Given the description of an element on the screen output the (x, y) to click on. 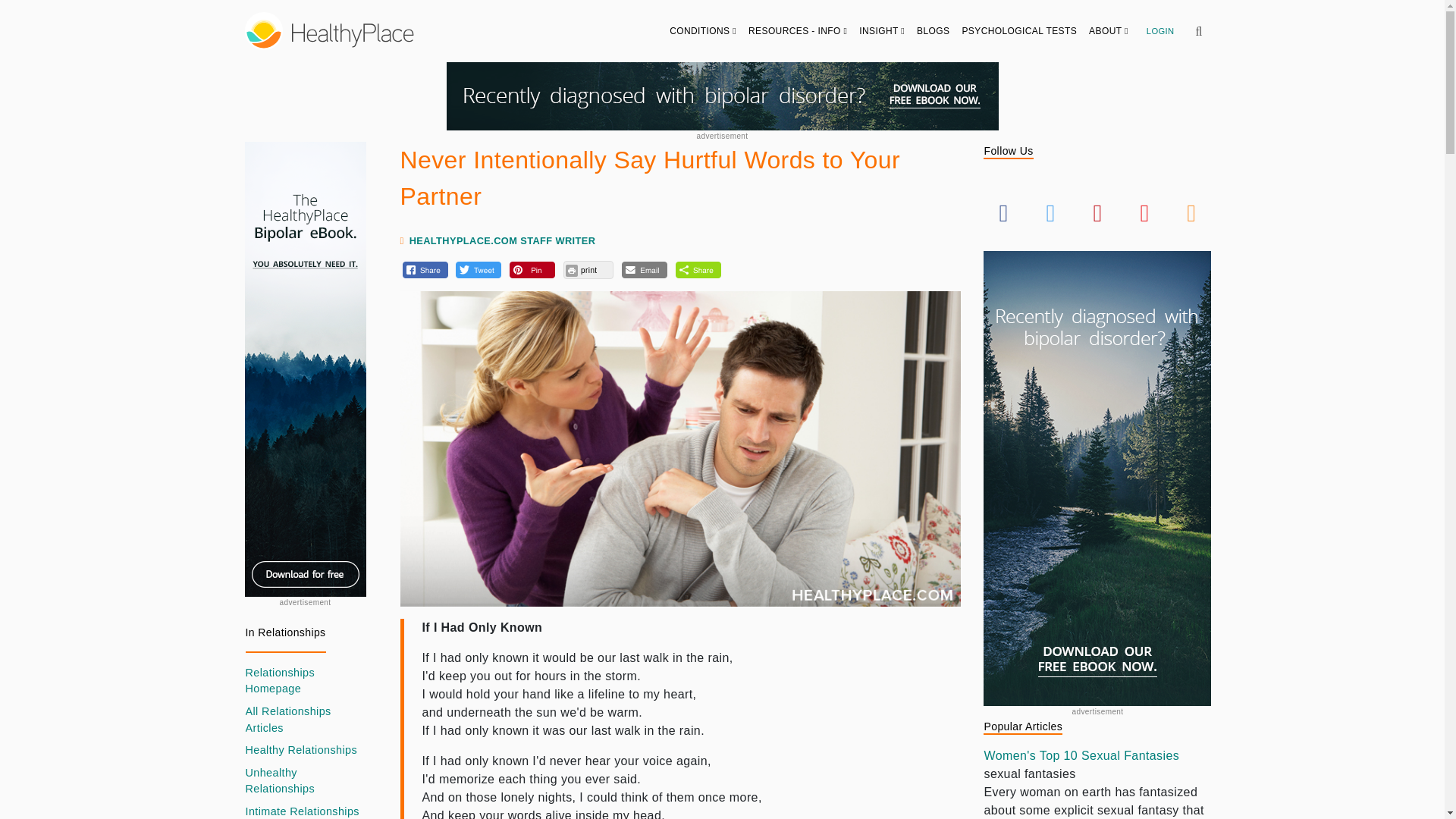
Get our free bipolar eBook. Click to download. (721, 96)
All Relationships Articles on HealthyPlace (305, 681)
INSIGHT (882, 31)
Click to download bipolar eBook (304, 369)
How to Develop Intimate Relationships? (302, 811)
List of all Relationships Articles on HealthyPlace (305, 719)
What Constitutes an Unhealthy Relationship? (305, 780)
CONDITIONS (702, 31)
What is a Healthy Relationship? (302, 750)
RESOURCES - INFO (797, 31)
